Given the description of an element on the screen output the (x, y) to click on. 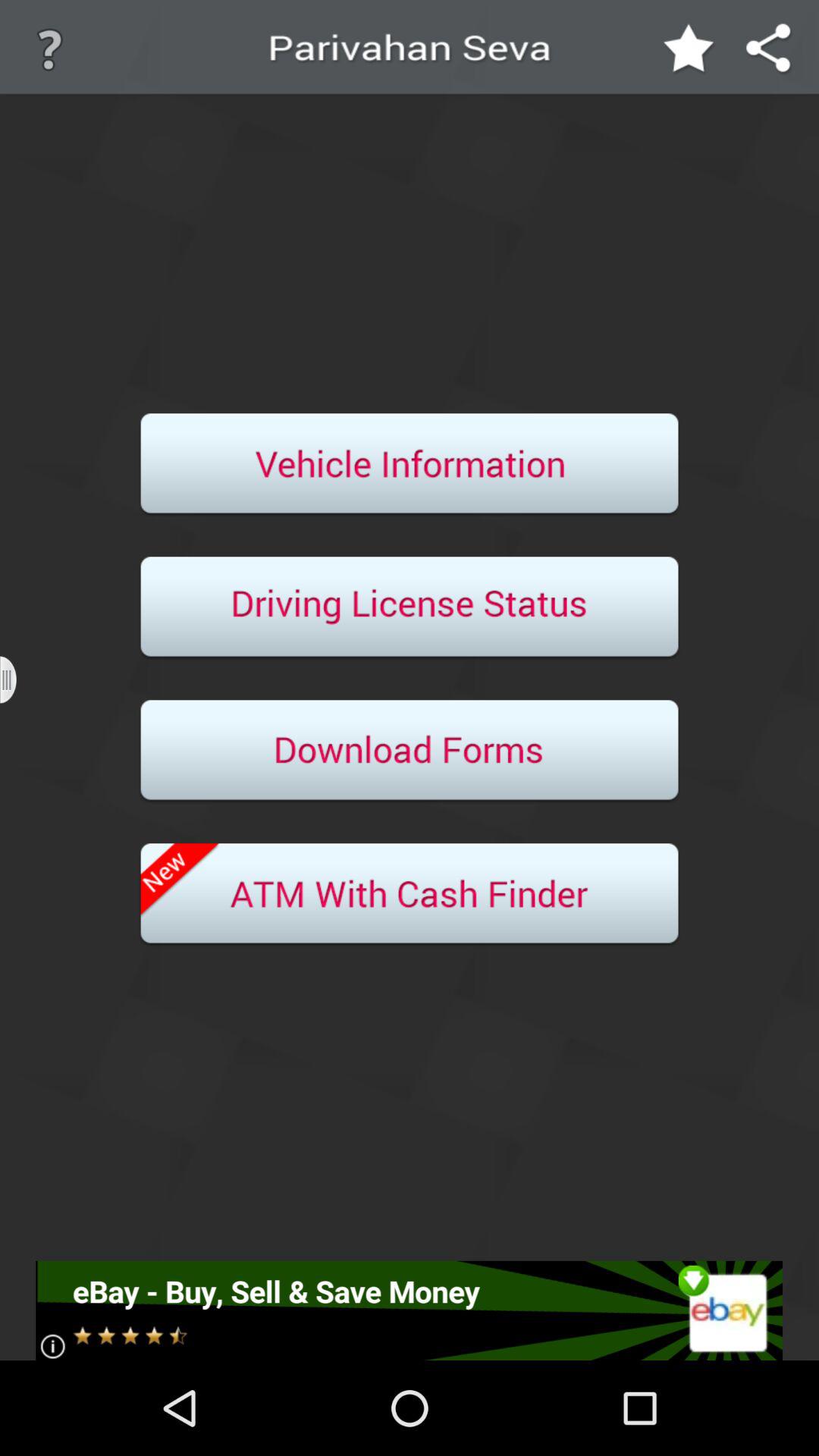
select option (409, 608)
